Given the description of an element on the screen output the (x, y) to click on. 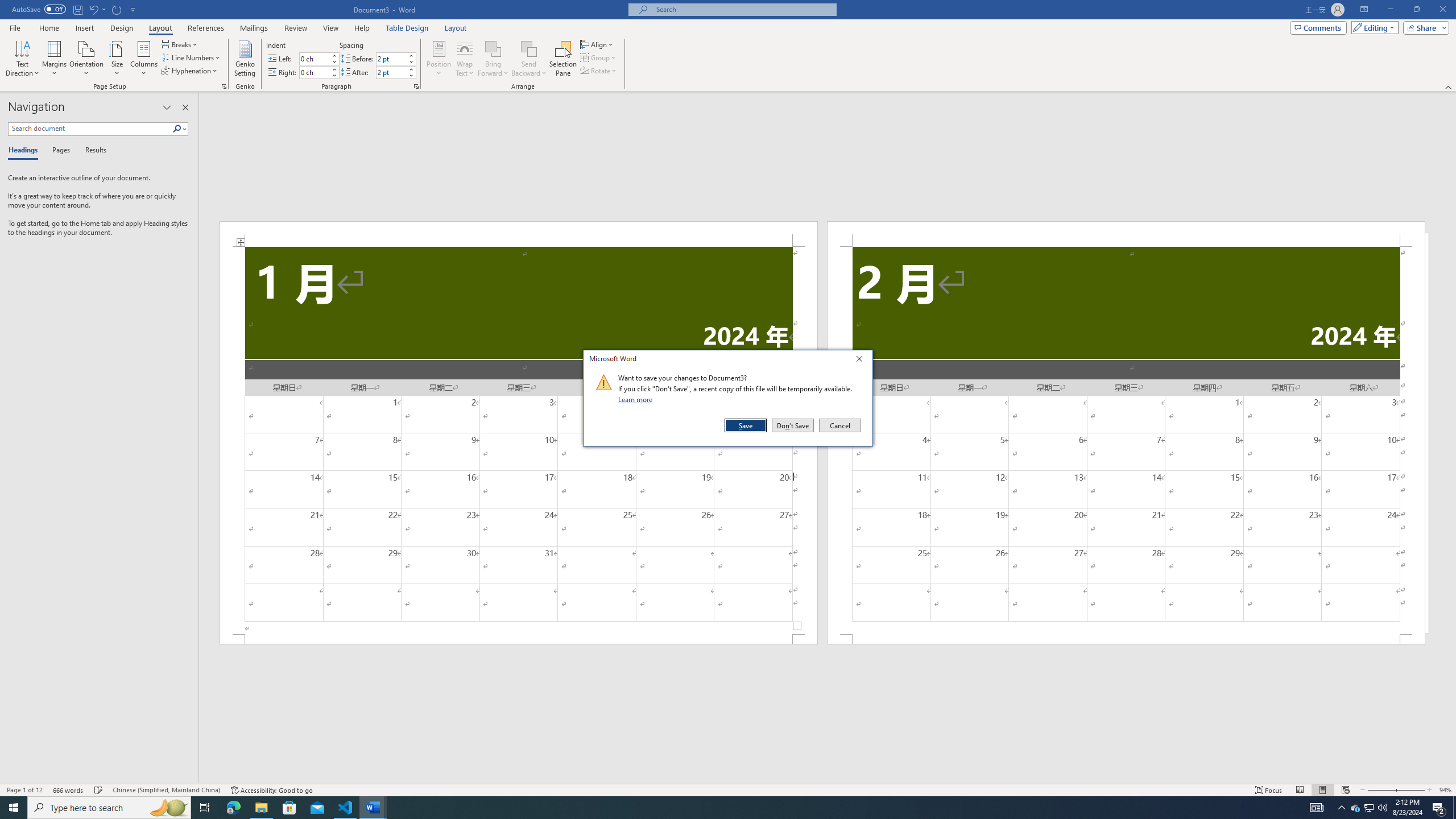
Selection Pane... (563, 58)
Running applications (717, 807)
Align (597, 44)
Size (116, 58)
Spacing Before (391, 58)
Indent Left (314, 58)
Less (411, 75)
Hyphenation (189, 69)
